Given the description of an element on the screen output the (x, y) to click on. 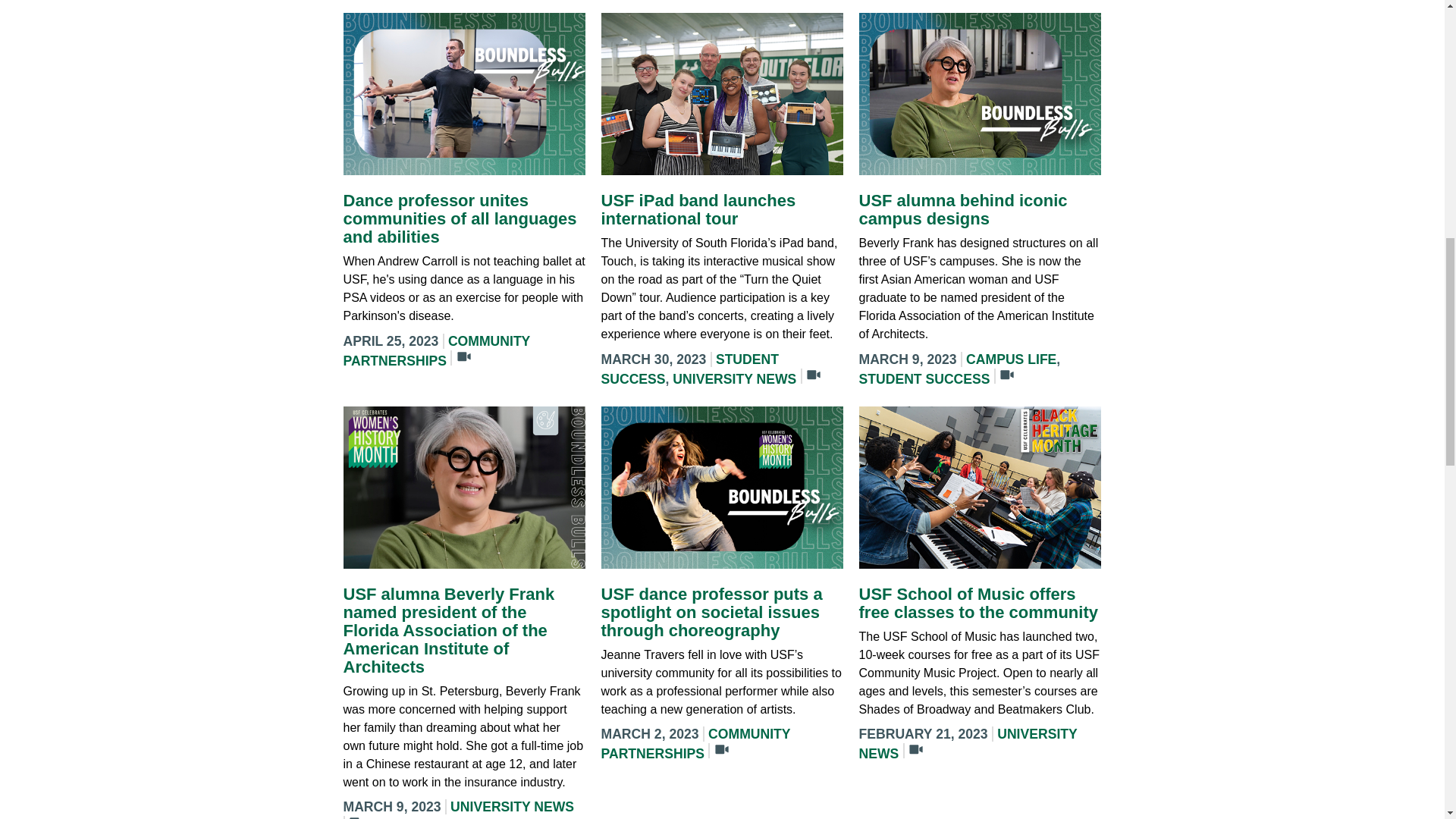
CAMPUS LIFE (1011, 359)
USF iPad band launches international tour (696, 209)
USF School of Music offers free classes to the community (978, 602)
UNIVERSITY NEWS (511, 806)
UNIVERSITY NEWS (734, 378)
STUDENT SUCCESS (924, 378)
COMMUNITY PARTNERSHIPS (435, 350)
USF alumna behind iconic campus designs (963, 209)
STUDENT SUCCESS (688, 369)
COMMUNITY PARTNERSHIPS (694, 743)
